Given the description of an element on the screen output the (x, y) to click on. 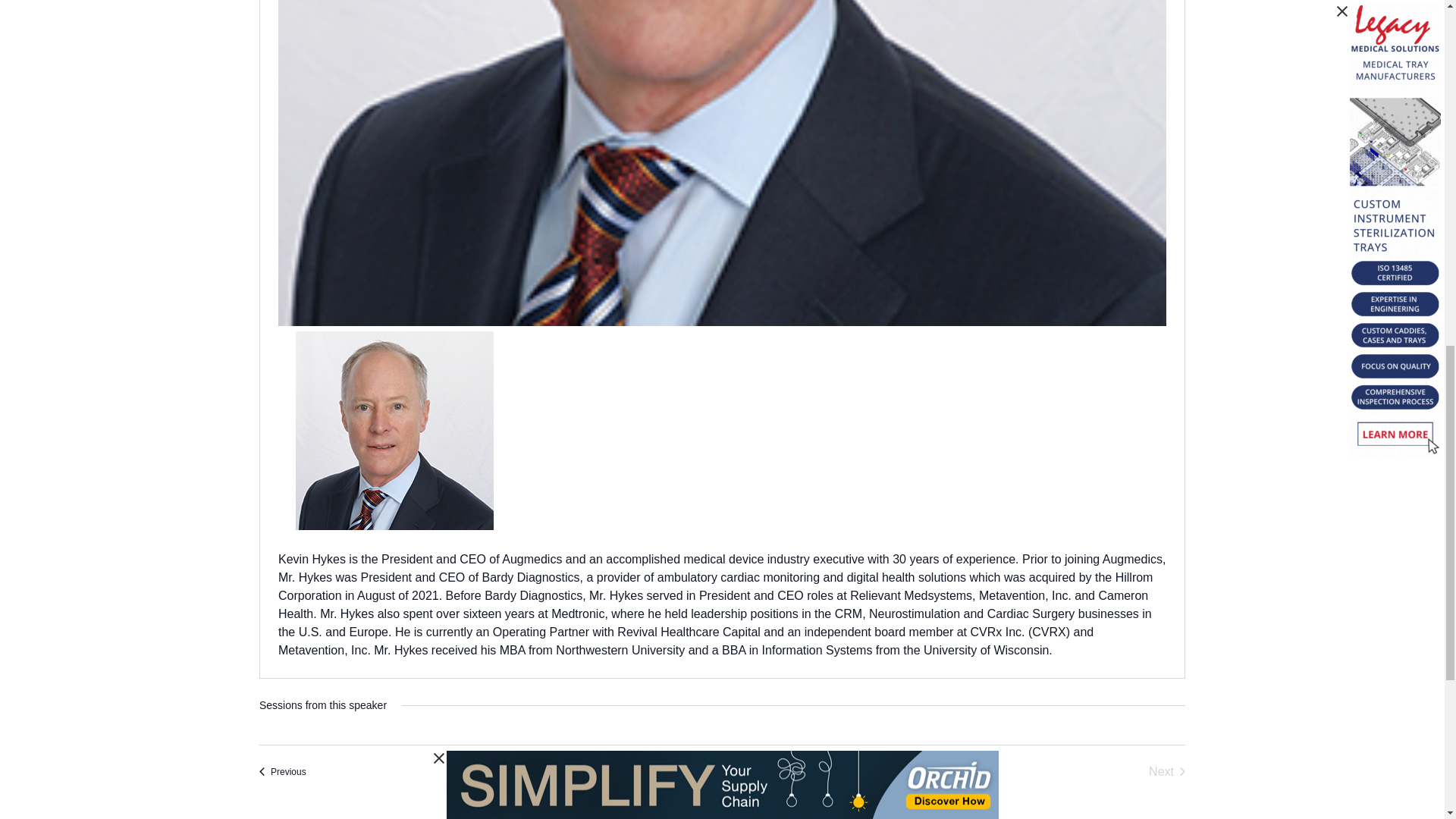
Next Sessions (1166, 771)
Click to select today's date (721, 771)
Previous Sessions (282, 771)
